Given the description of an element on the screen output the (x, y) to click on. 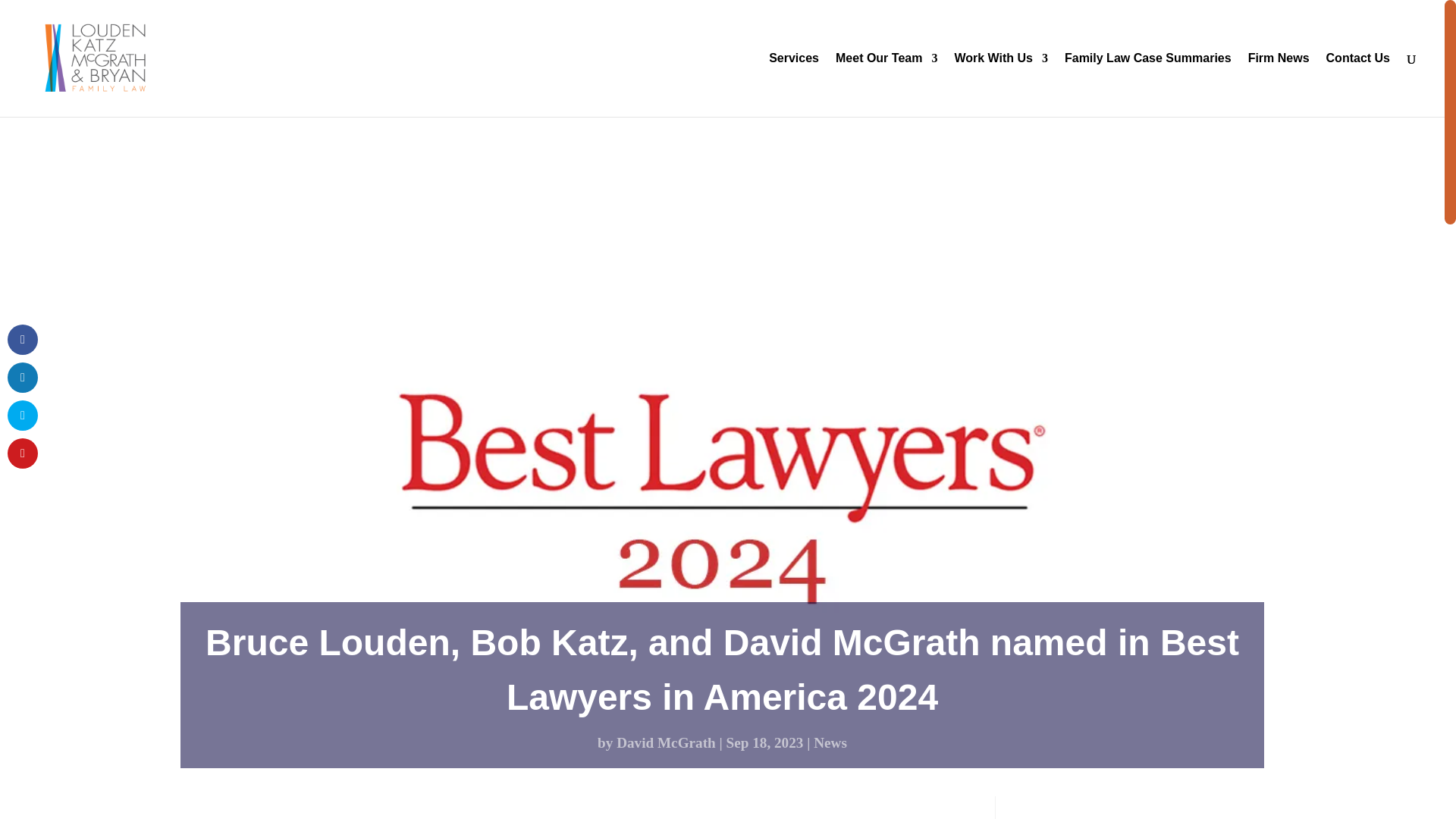
News (830, 742)
Meet Our Team (886, 85)
Contact Us (1358, 85)
Posts by David McGrath (665, 742)
Firm News (1277, 85)
Family Law Case Summaries (1147, 85)
David McGrath (665, 742)
Work With Us (1000, 85)
